Given the description of an element on the screen output the (x, y) to click on. 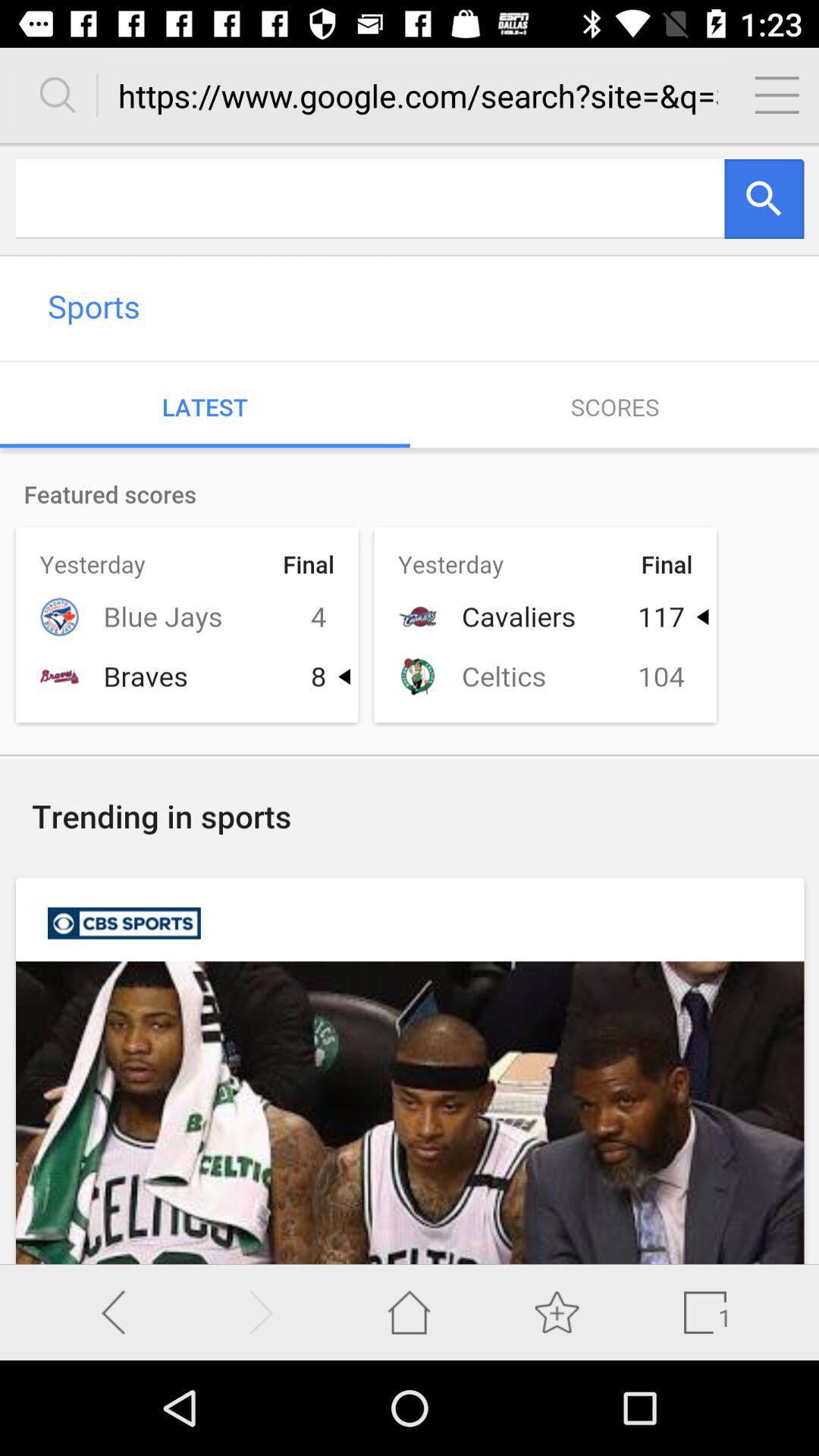
click to the menu page (777, 95)
